Given the description of an element on the screen output the (x, y) to click on. 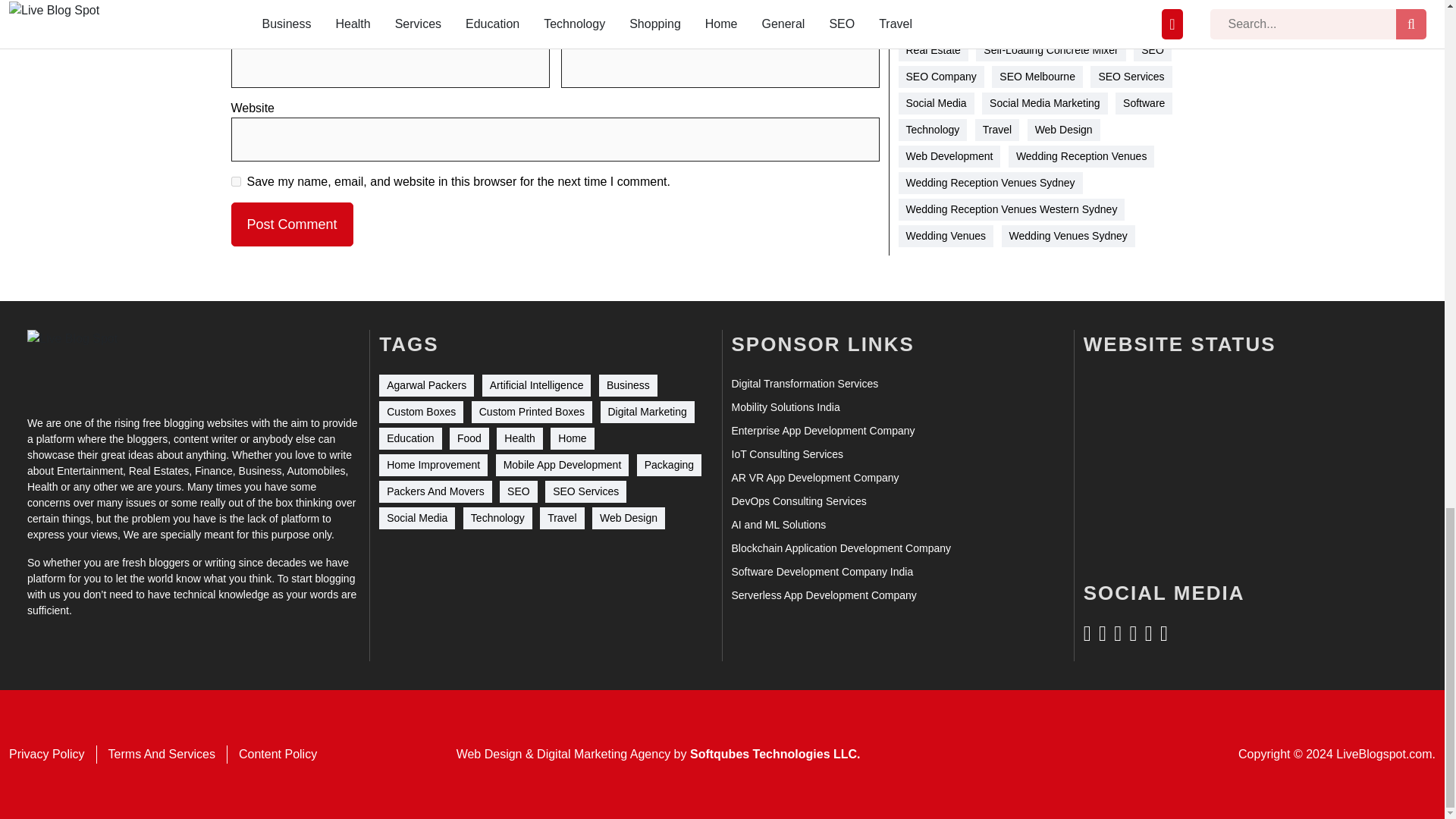
Live Blog Spot (81, 363)
Post Comment (291, 224)
DevOps Consulting Services (798, 501)
Mobility Solutions India (785, 407)
IoT Consulting Services (786, 454)
AR VR App Development Company (814, 478)
Digital Transformation Services (803, 383)
Post Comment (291, 224)
Enterprise App Development Company (822, 430)
yes (235, 181)
